Given the description of an element on the screen output the (x, y) to click on. 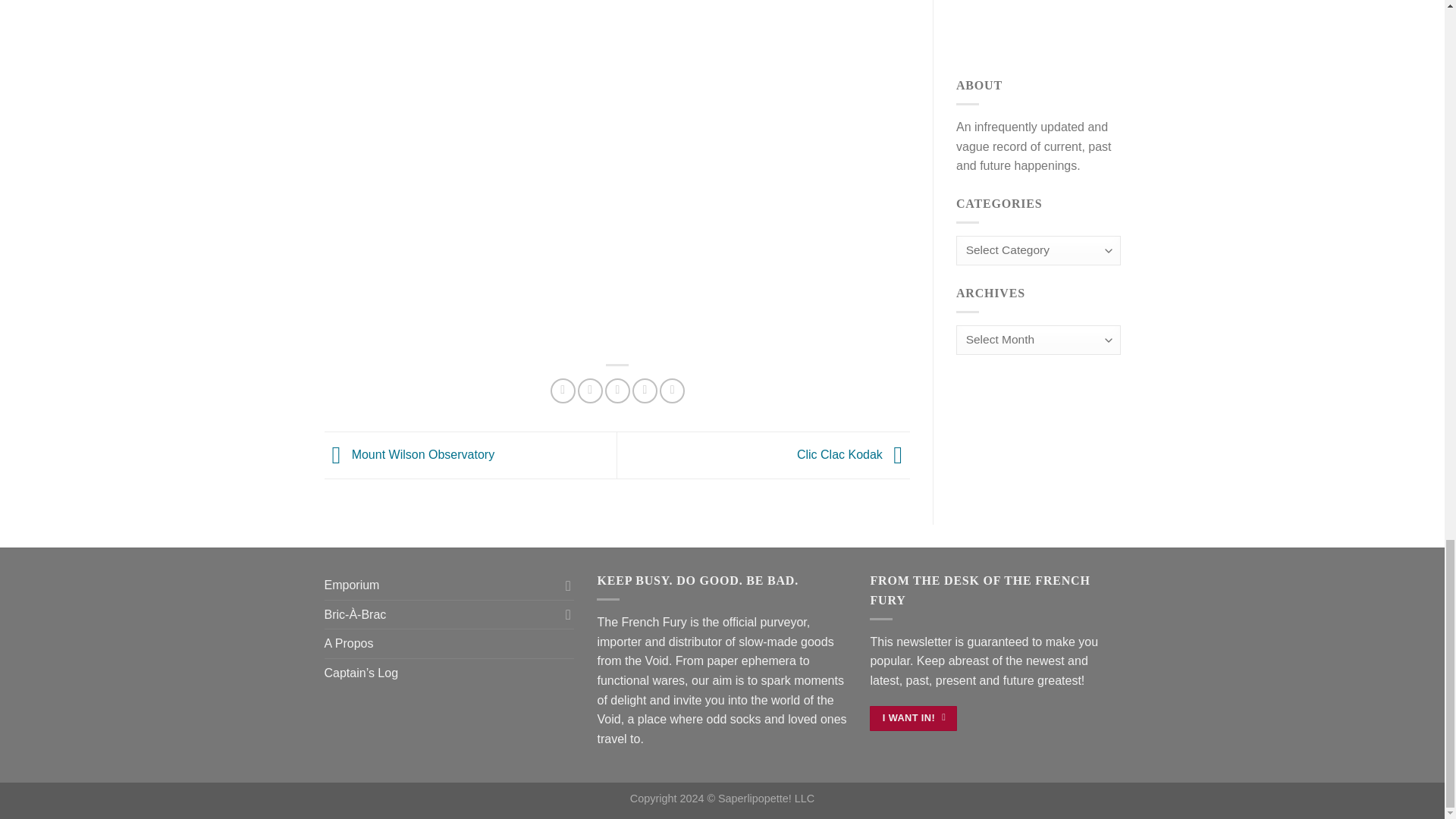
Share on LinkedIn (671, 390)
Share on Facebook (562, 390)
Share on Twitter (590, 390)
Pin on Pinterest (644, 390)
Email to a Friend (617, 390)
